Given the description of an element on the screen output the (x, y) to click on. 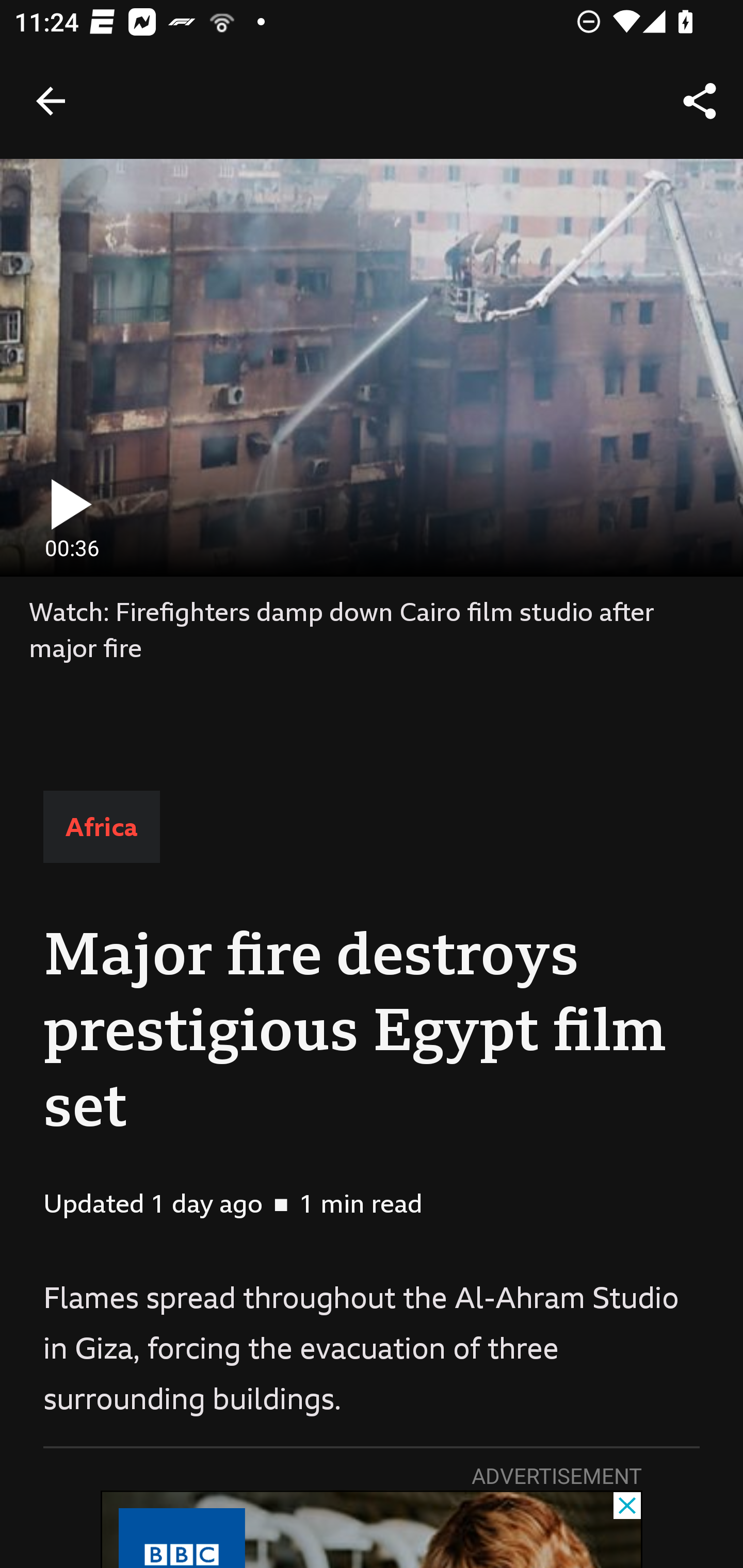
Back (50, 101)
Share (699, 101)
play fullscreen 00:36 0 minutes, 36 seconds (371, 367)
Africa (101, 827)
